Given the description of an element on the screen output the (x, y) to click on. 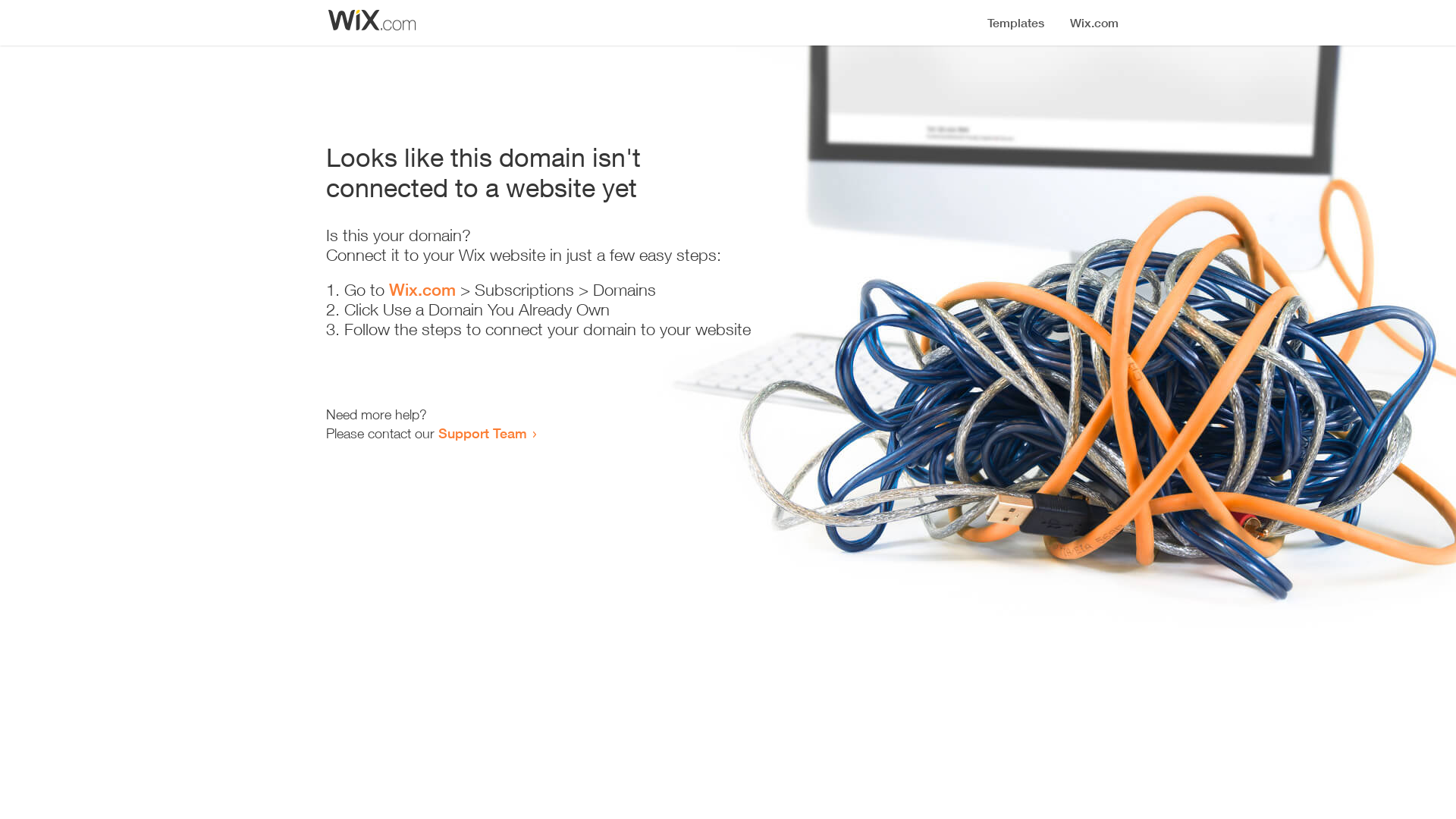
Wix.com Element type: text (422, 289)
Support Team Element type: text (482, 432)
